Given the description of an element on the screen output the (x, y) to click on. 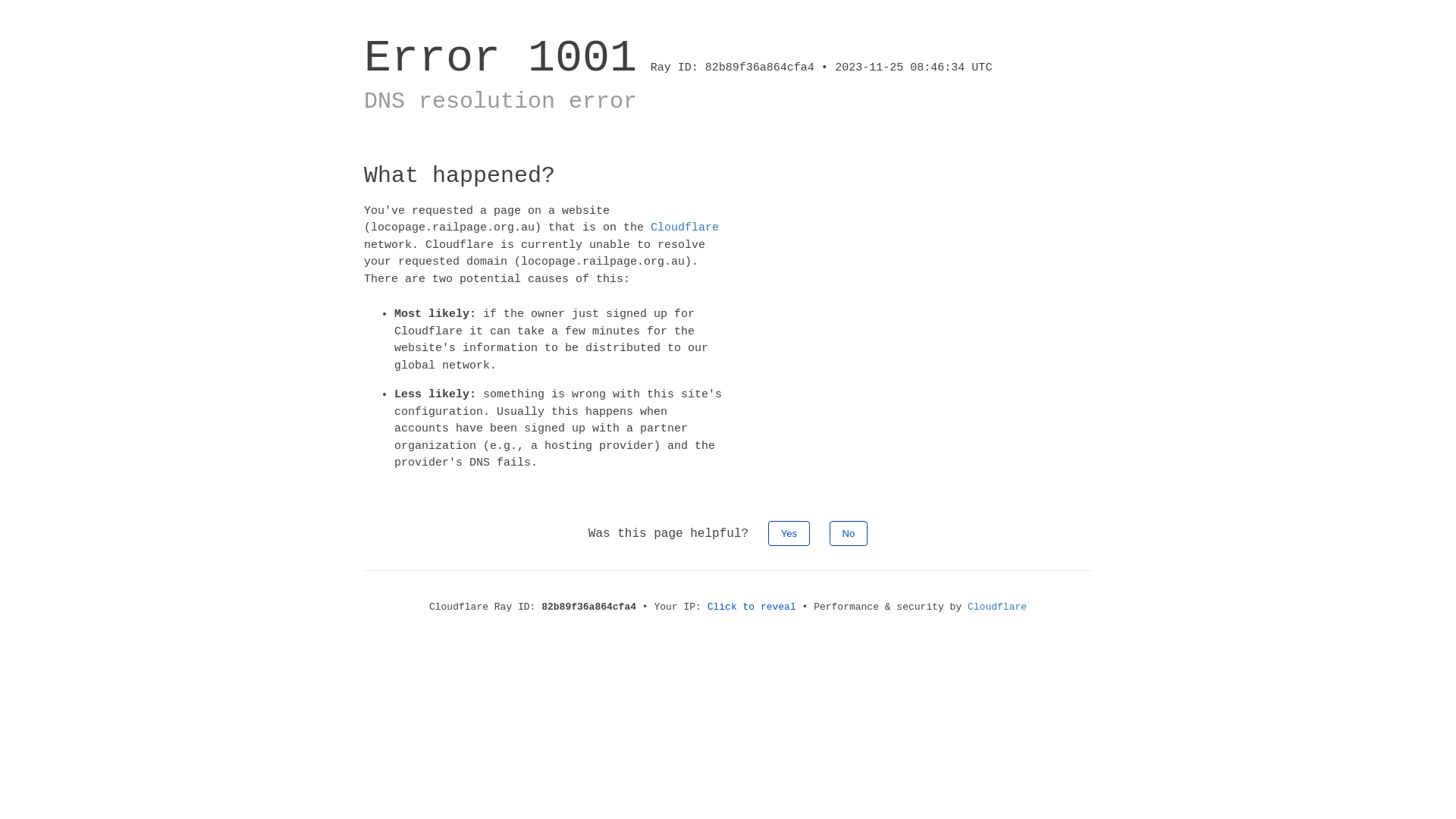
Yes Element type: text (788, 532)
Cloudflare Element type: text (684, 227)
Cloudflare Element type: text (996, 605)
No Element type: text (848, 532)
Click to reveal Element type: text (751, 605)
